Given the description of an element on the screen output the (x, y) to click on. 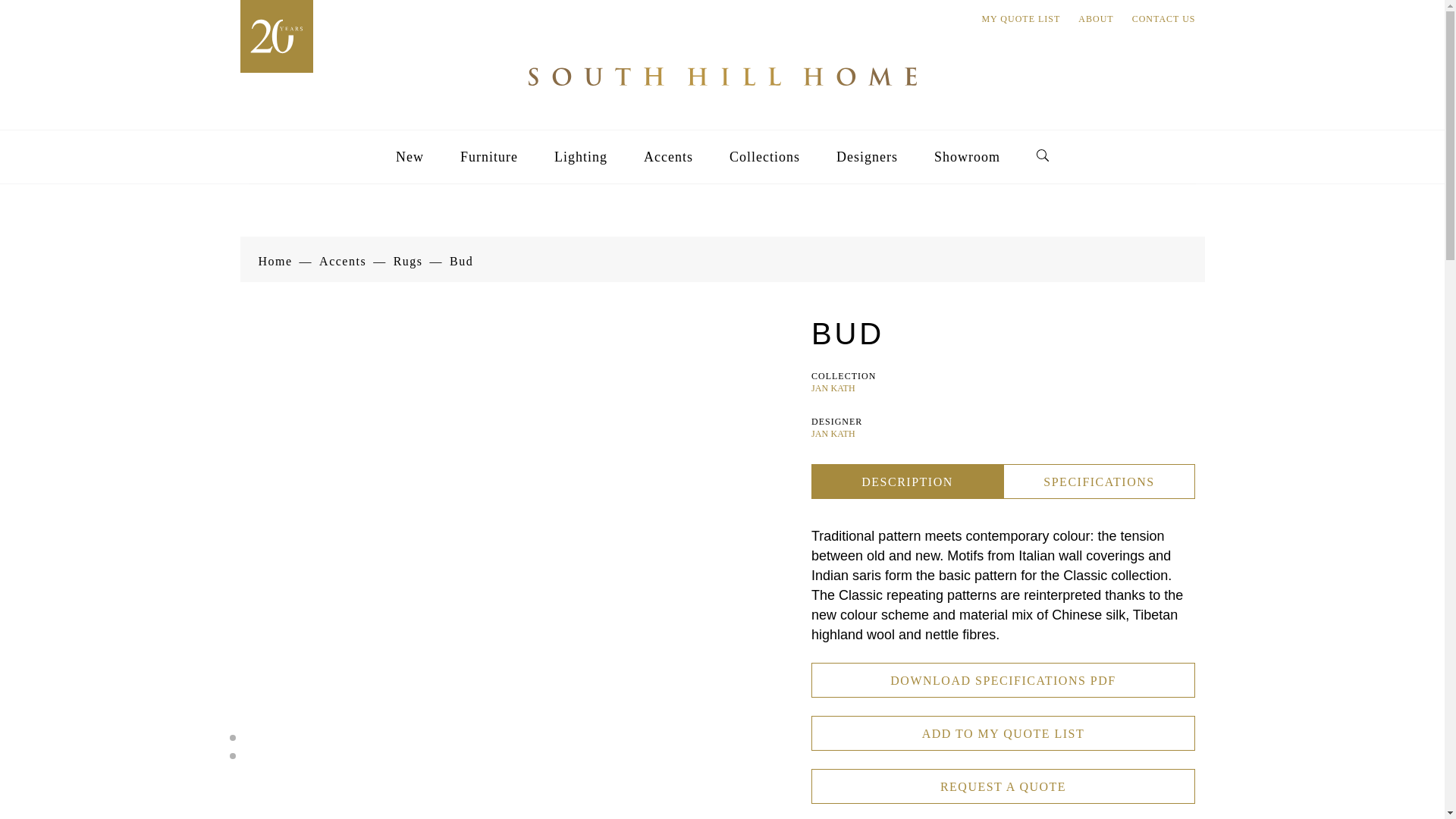
CONTACT US (1163, 18)
Furniture (489, 156)
Home (274, 260)
MY QUOTE LIST (1020, 18)
Accents (342, 260)
ABOUT (1095, 18)
Rugs (408, 260)
